Given the description of an element on the screen output the (x, y) to click on. 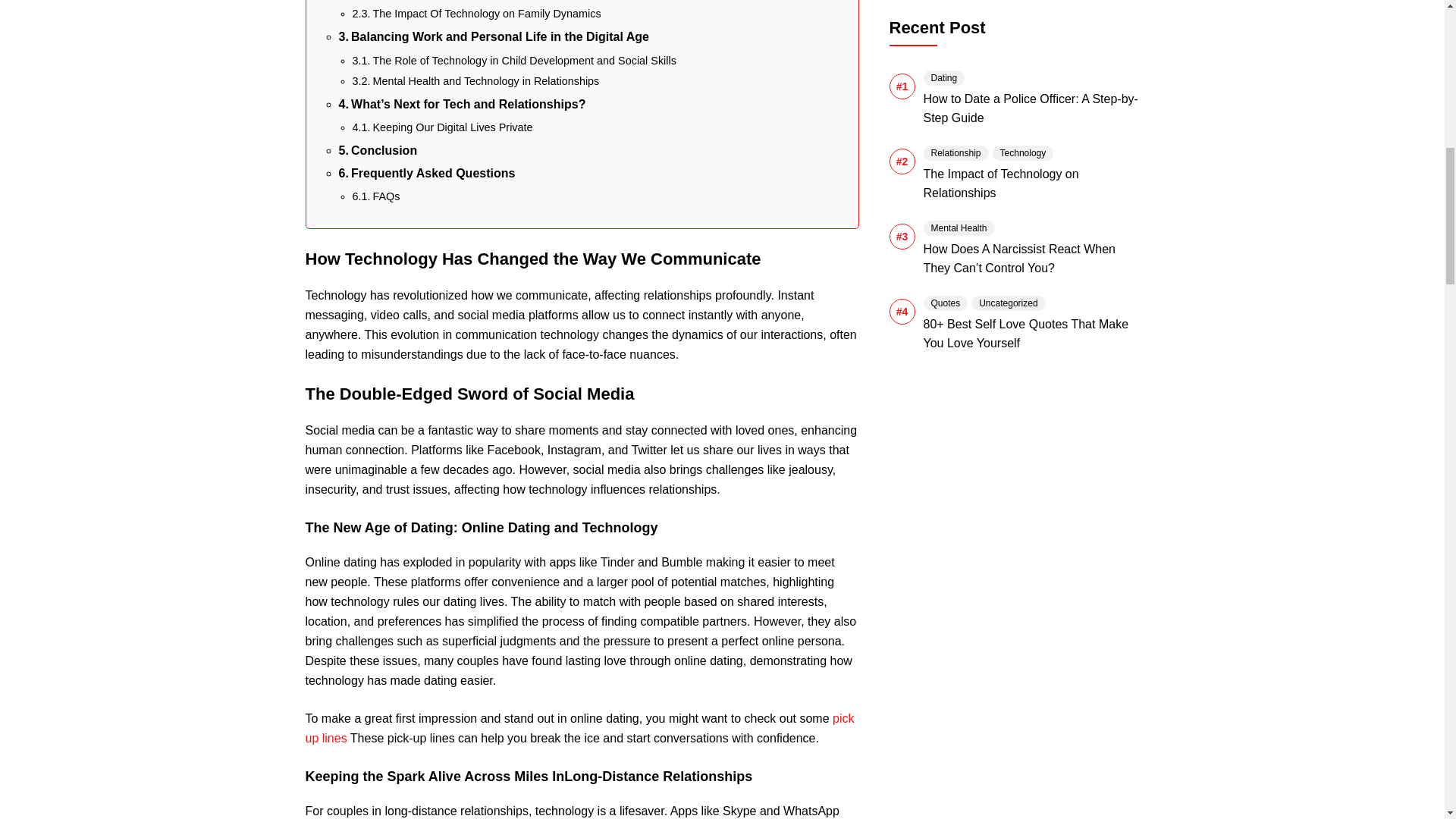
The Impact Of Technology on Family Dynamics (475, 13)
Conclusion (376, 150)
The Impact Of Technology on Family Dynamics (475, 13)
Mental Health and Technology in Relationships (475, 81)
Keeping Our Digital Lives Private  (443, 127)
Mental Health and Technology in Relationships (475, 81)
Balancing Work and Personal Life in the Digital Age  (494, 36)
